Given the description of an element on the screen output the (x, y) to click on. 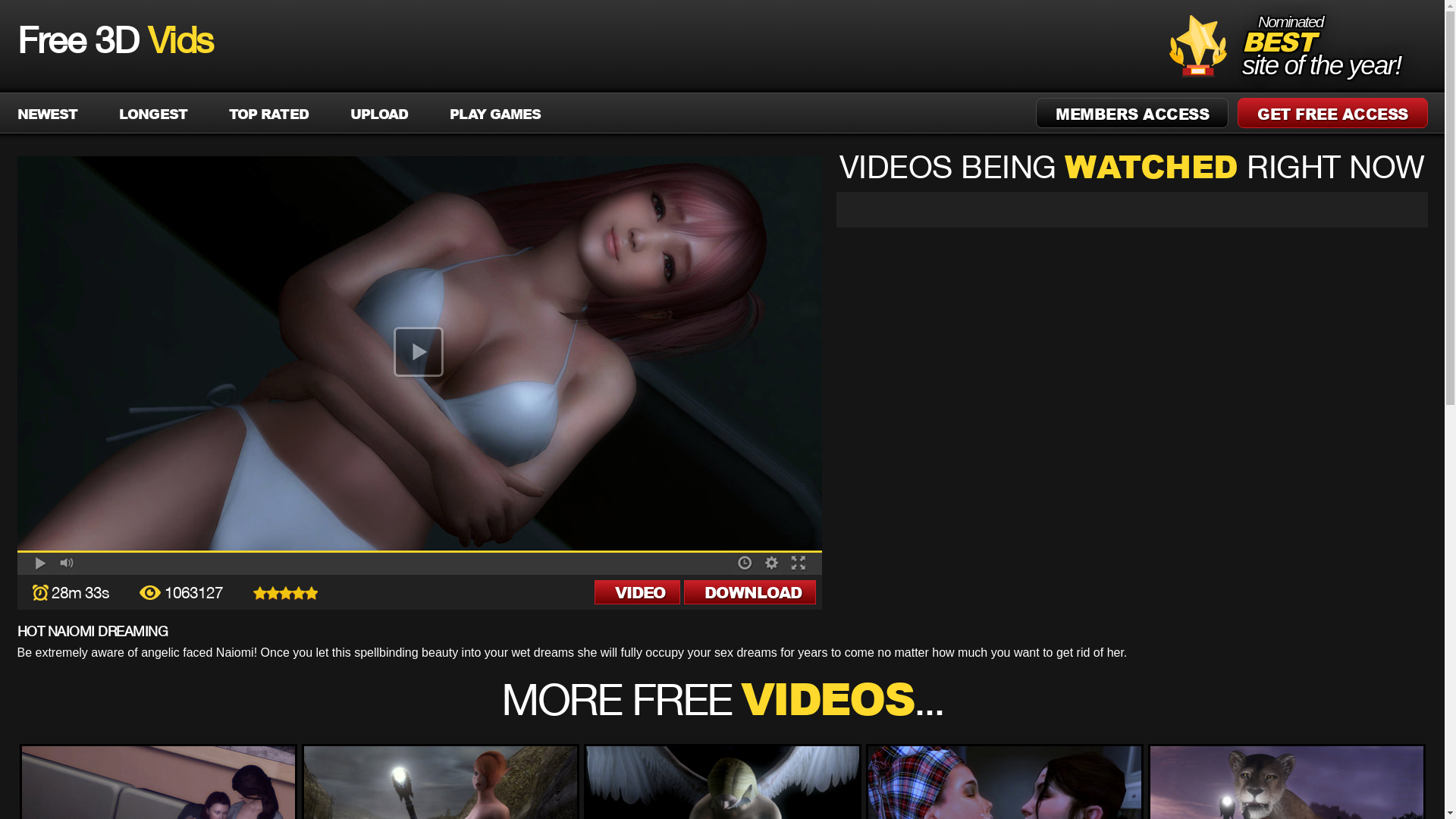
PLAY GAMES Element type: text (494, 113)
VIDEO Element type: text (637, 592)
LONGEST Element type: text (153, 113)
MEMBERS ACCESS Element type: text (1131, 112)
TOP RATED Element type: text (268, 113)
Free 3D Vids Element type: text (114, 44)
UPLOAD Element type: text (379, 113)
GET FREE ACCESS Element type: text (1332, 112)
NEWEST Element type: text (46, 113)
DOWNLOAD Element type: text (749, 592)
